Given the description of an element on the screen output the (x, y) to click on. 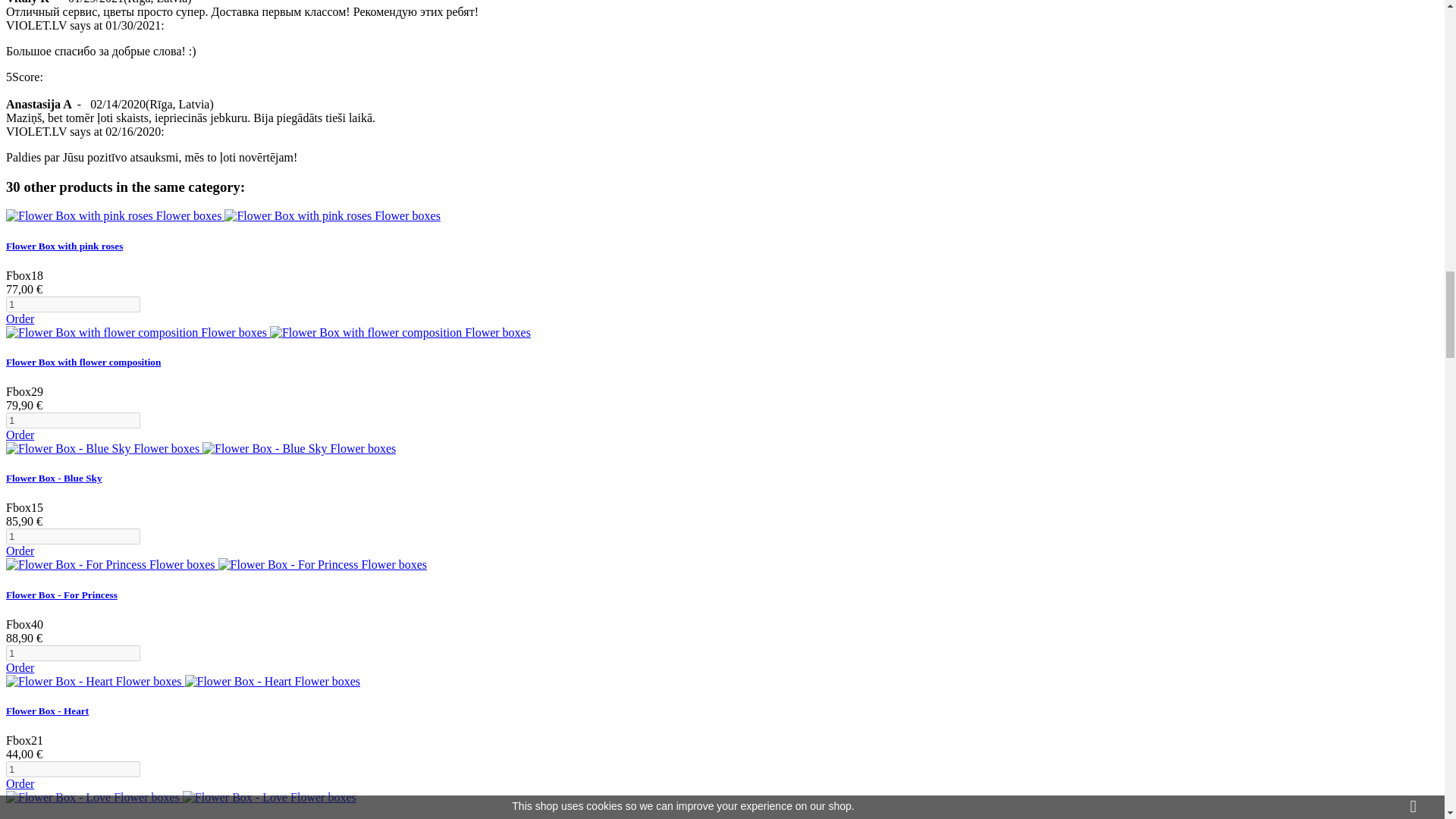
1 (72, 420)
1 (72, 769)
1 (72, 652)
1 (72, 536)
1 (72, 304)
